Given the description of an element on the screen output the (x, y) to click on. 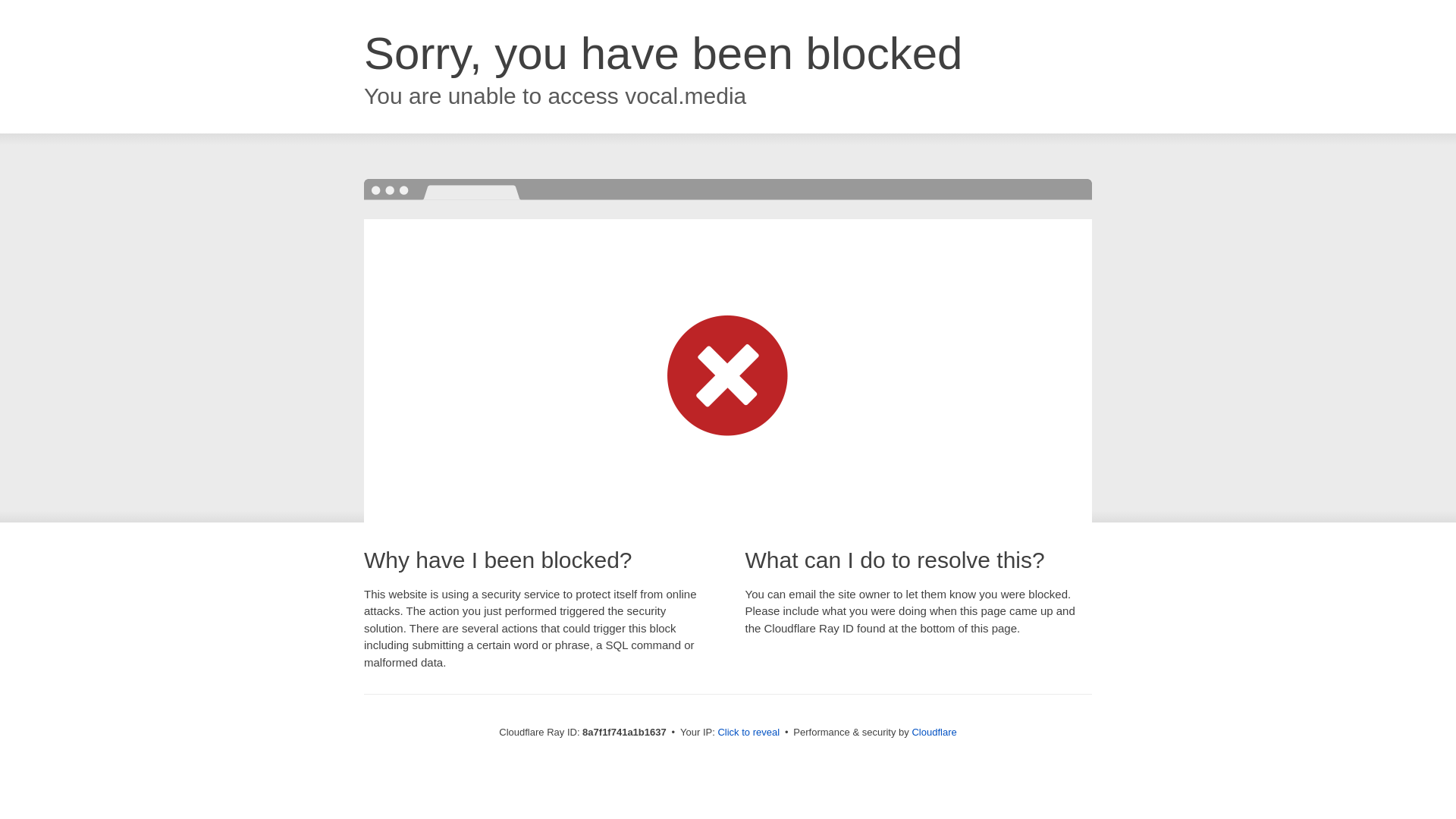
Cloudflare (933, 731)
Click to reveal (747, 732)
